Given the description of an element on the screen output the (x, y) to click on. 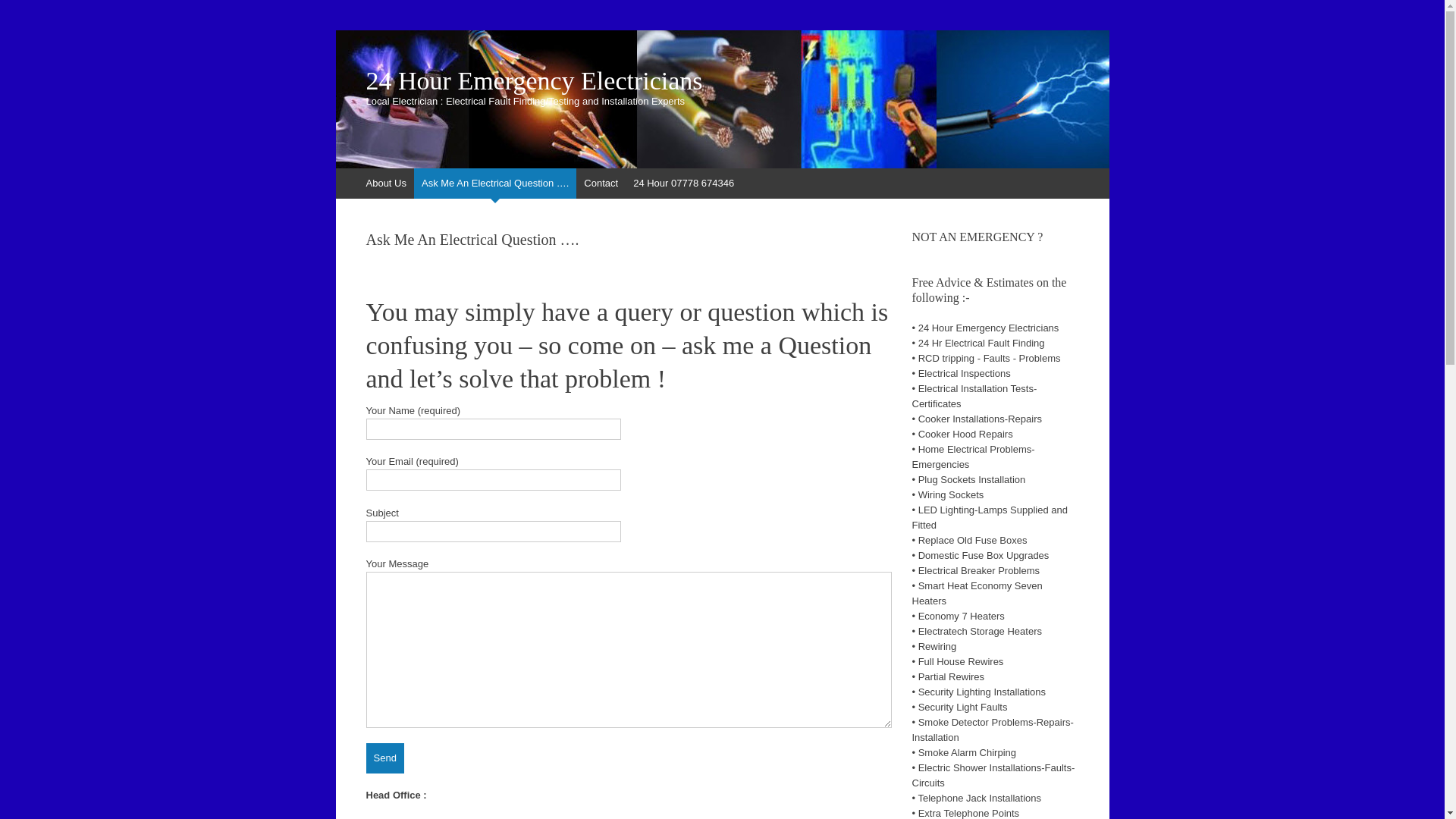
About Us Element type: text (385, 183)
24 Hour Emergency Electricians Element type: text (721, 81)
Send Element type: text (384, 758)
24 Hour 07778 674346 Element type: text (683, 183)
Contact Element type: text (600, 183)
Skip to content Element type: text (375, 183)
